Given the description of an element on the screen output the (x, y) to click on. 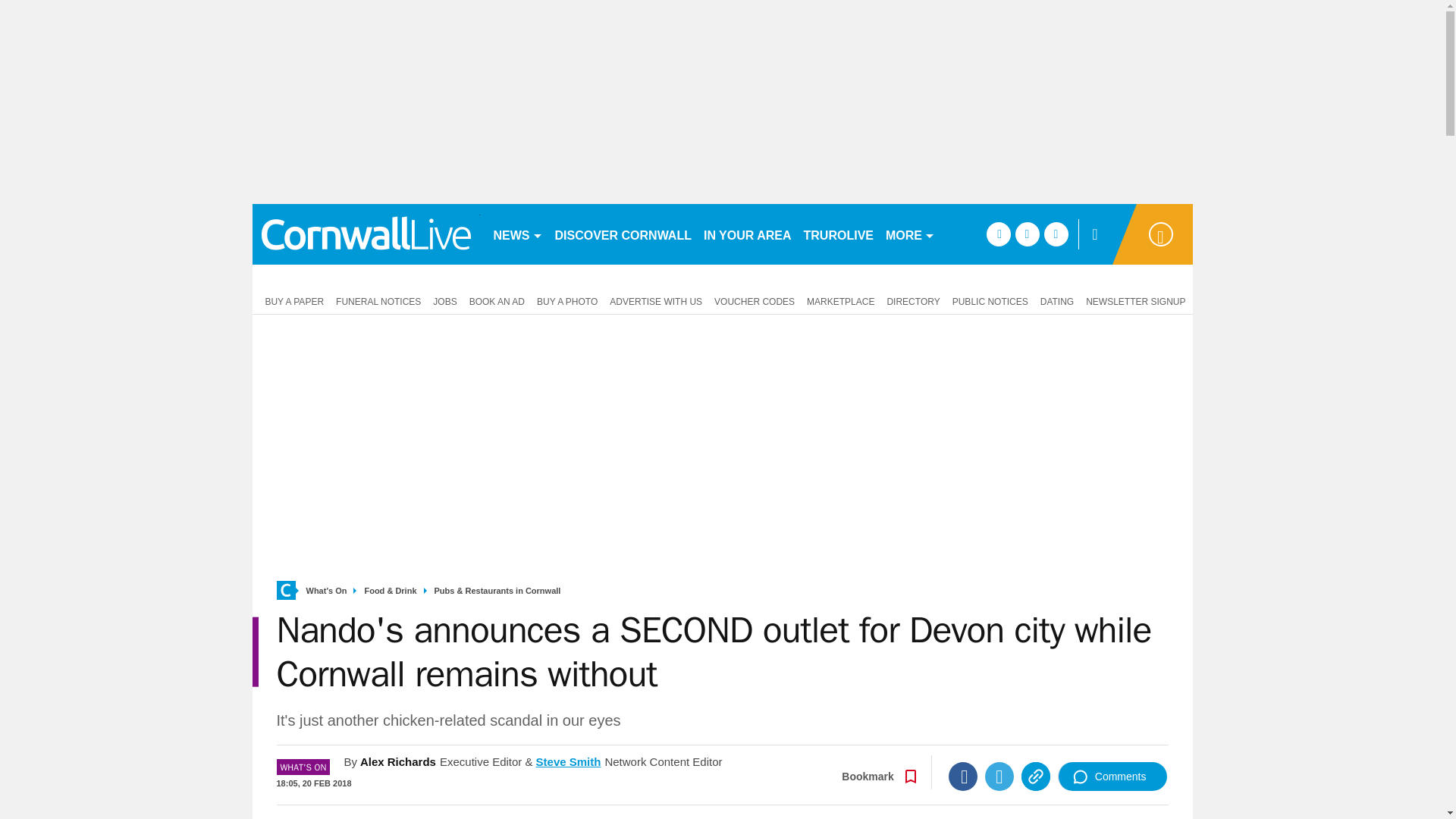
MORE (909, 233)
Facebook (962, 776)
TRUROLIVE (838, 233)
Comments (1112, 776)
DISCOVER CORNWALL (622, 233)
Twitter (999, 776)
cornwalllive (365, 233)
facebook (997, 233)
NEWS (517, 233)
instagram (1055, 233)
